Given the description of an element on the screen output the (x, y) to click on. 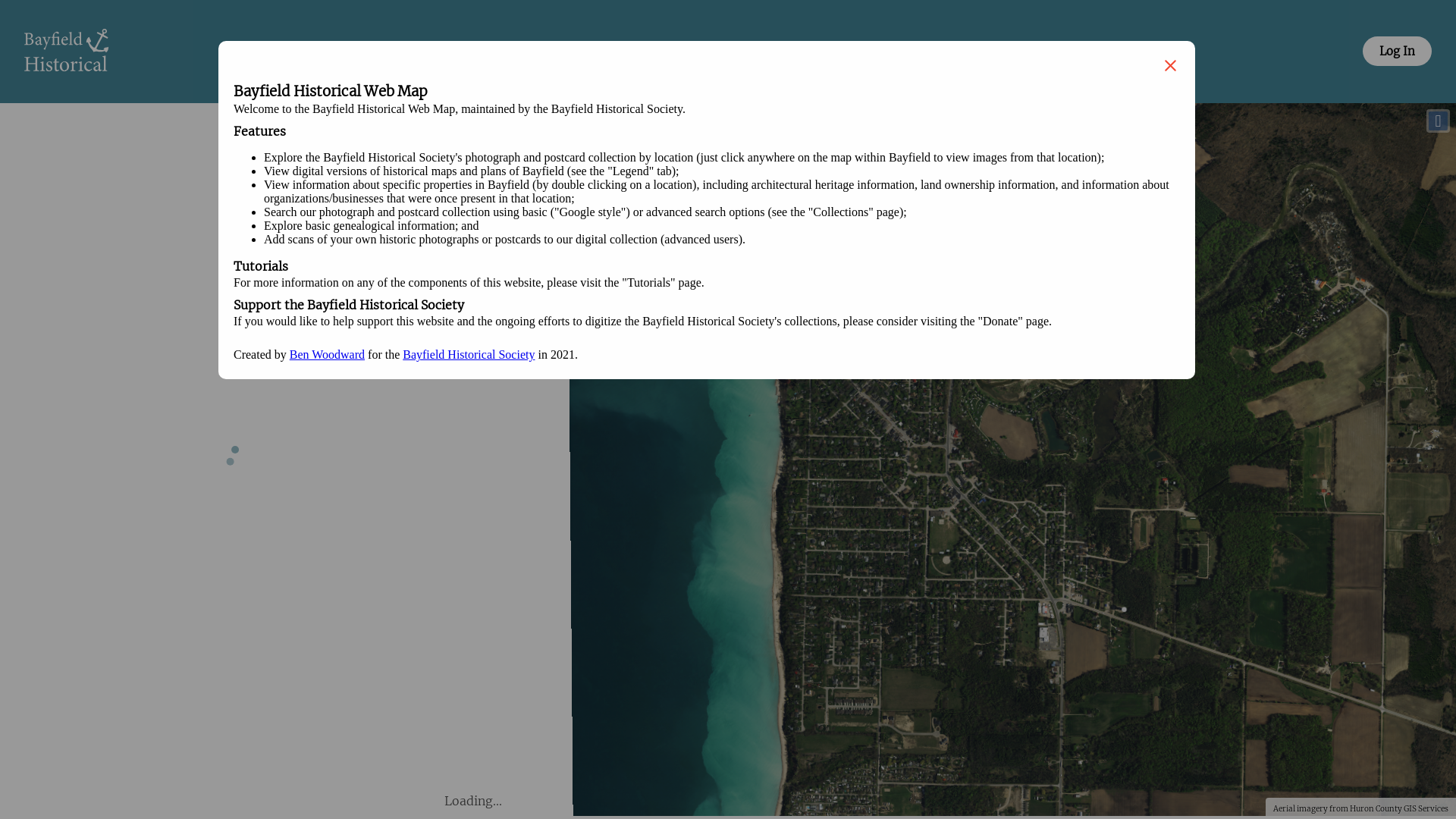
Donate Element type: text (929, 51)
Ben Woodward Element type: text (326, 354)
Collection Element type: text (525, 51)
Main Website Element type: text (731, 51)
Bayfield Historical Society Element type: text (468, 354)
Log In Element type: text (1396, 50)
Tutorial Element type: text (1111, 51)
+ Element type: text (454, 120)
Map Element type: text (346, 51)
